Given the description of an element on the screen output the (x, y) to click on. 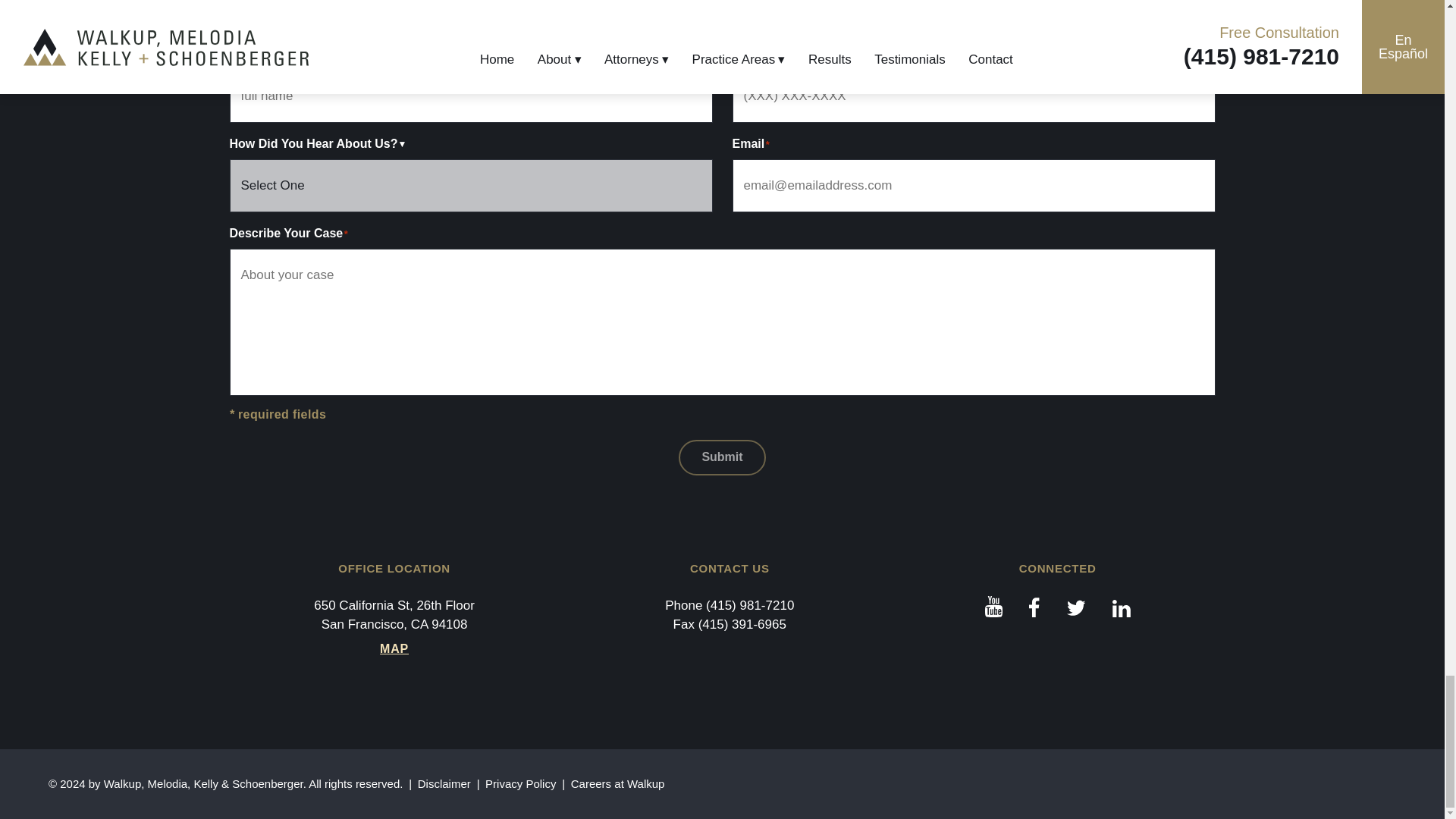
Fax (742, 624)
Facebook (1034, 606)
Twitter (1076, 606)
Linkedin (1121, 606)
Phone (749, 605)
Youtube (994, 606)
